Given the description of an element on the screen output the (x, y) to click on. 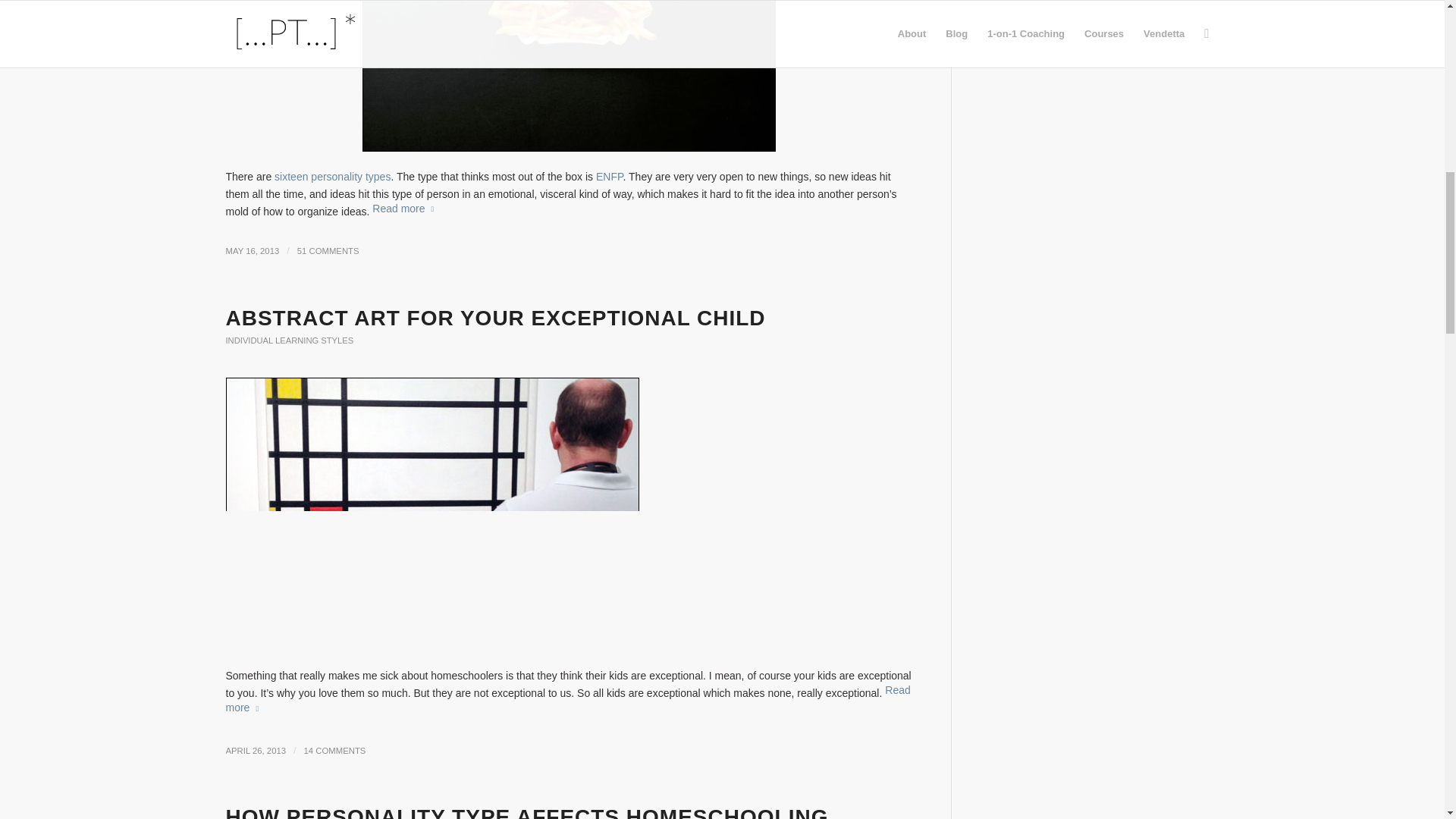
14 COMMENTS (335, 750)
Read more (568, 698)
ENFP (609, 176)
sixteen personality types (332, 176)
ABSTRACT ART FOR YOUR EXCEPTIONAL CHILD (495, 318)
Permanent Link: Abstract art for your exceptional child (495, 318)
INDIVIDUAL LEARNING STYLES (289, 339)
51 COMMENTS (328, 250)
HOW PERSONALITY TYPE AFFECTS HOMESCHOOLING (526, 812)
Read more (405, 207)
